Given the description of an element on the screen output the (x, y) to click on. 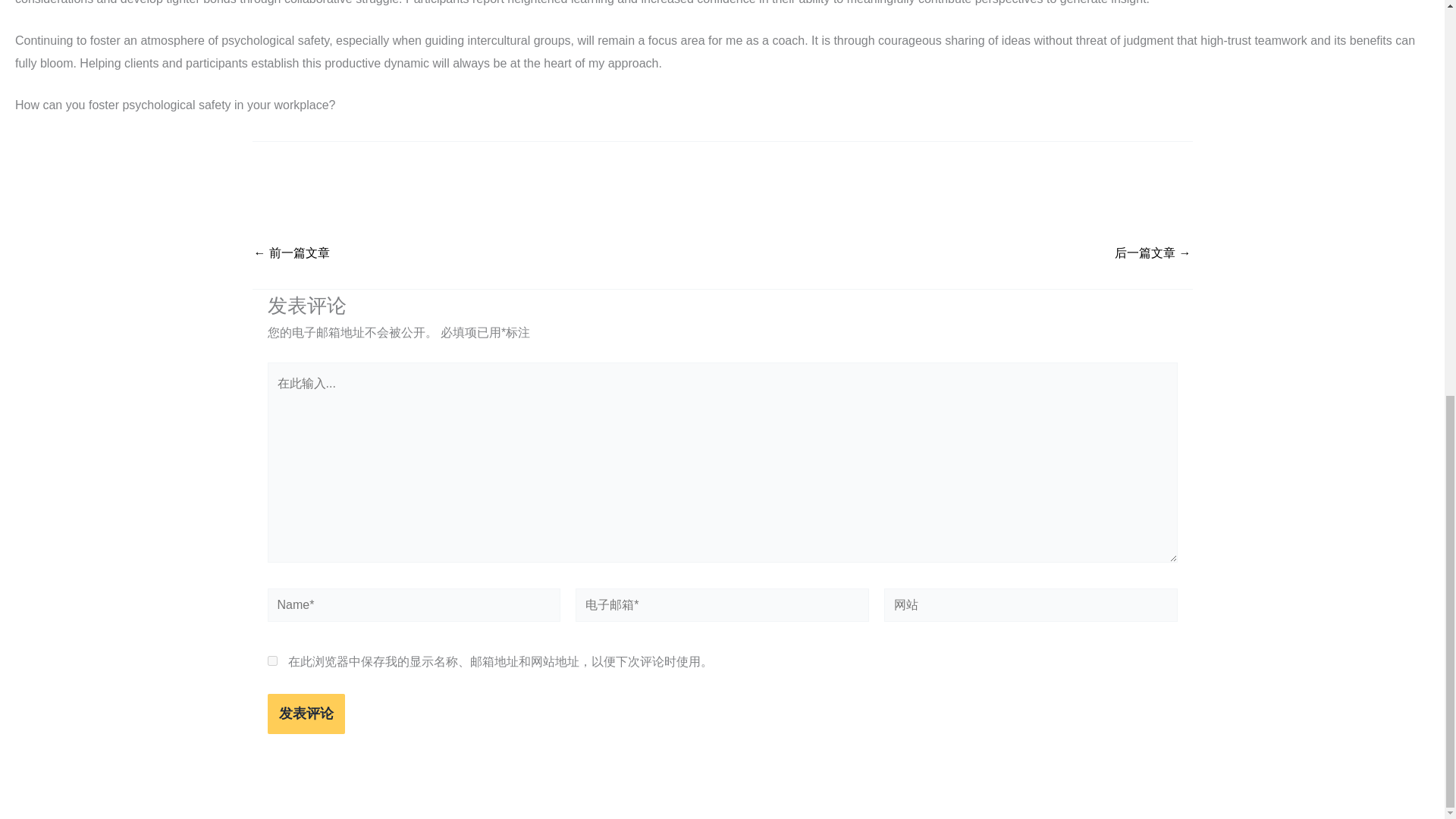
Conflict Resolution (1153, 253)
yes (271, 660)
